Given the description of an element on the screen output the (x, y) to click on. 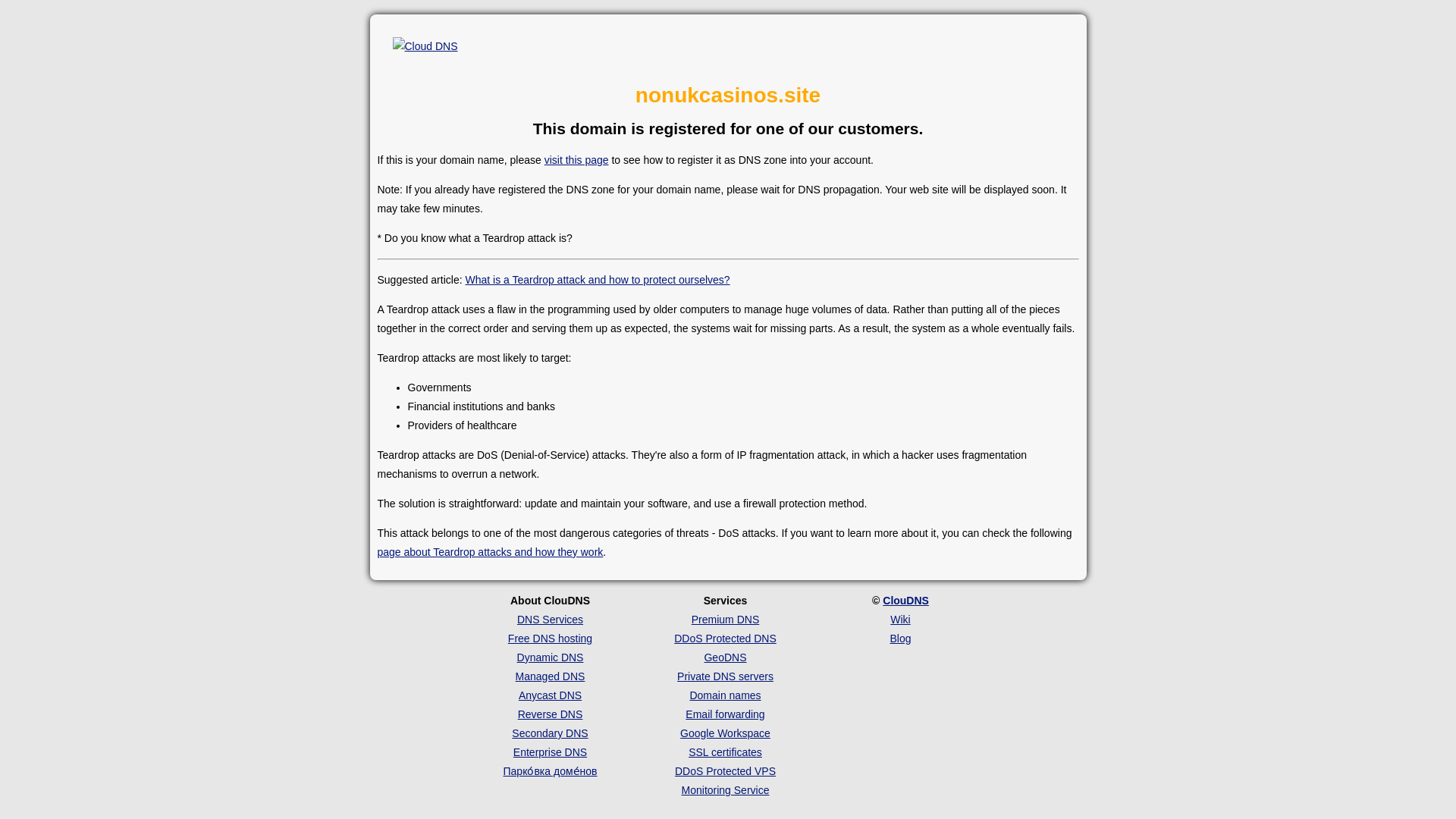
visit this page (576, 159)
Monitoring Service (725, 789)
Domain names (724, 695)
Managed DNS (550, 676)
Blog (900, 638)
Reverse DNS (550, 714)
Premium DNS (724, 619)
Anycast DNS (549, 695)
GeoDNS (724, 657)
Secondary DNS (550, 733)
